Given the description of an element on the screen output the (x, y) to click on. 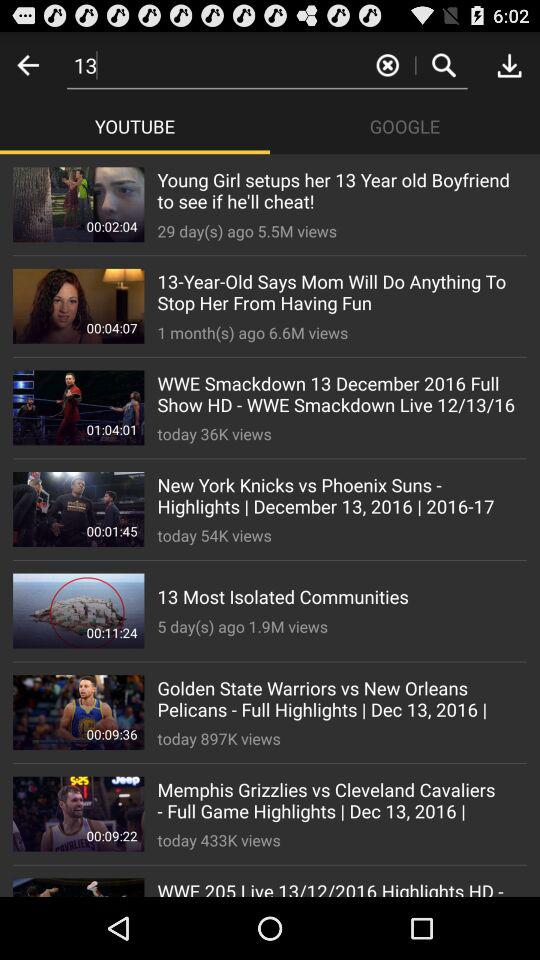
delete what 's in search box (387, 64)
